Given the description of an element on the screen output the (x, y) to click on. 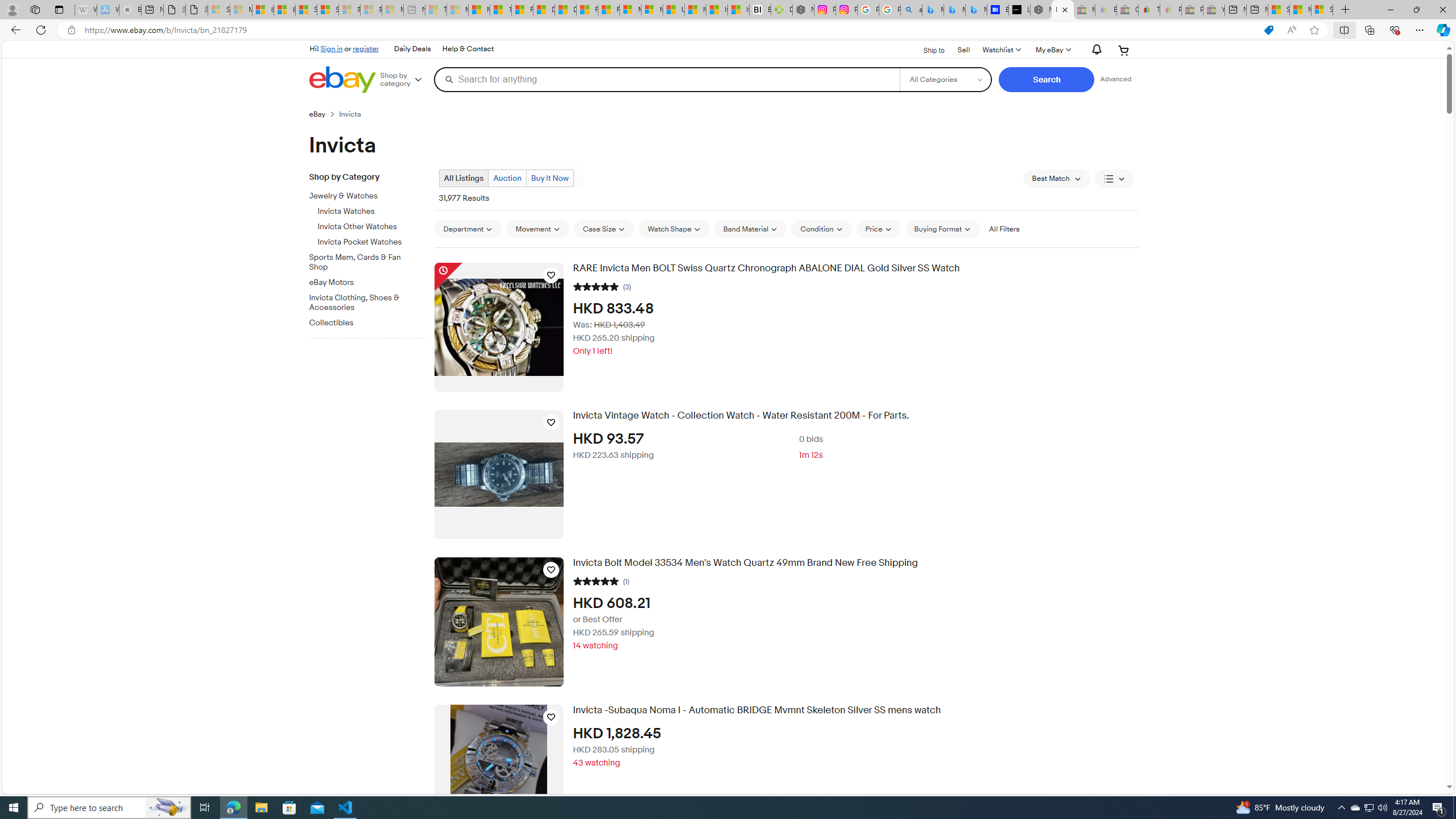
Daily Deals (411, 49)
Invicta Clothing, Shoes & Accessories (362, 303)
Food and Drink - MSN (522, 9)
Condition (820, 229)
Department (467, 229)
View: List View (1114, 178)
Payments Terms of Use | eBay.com - Sleeping (1170, 9)
Auction (507, 178)
